Given the description of an element on the screen output the (x, y) to click on. 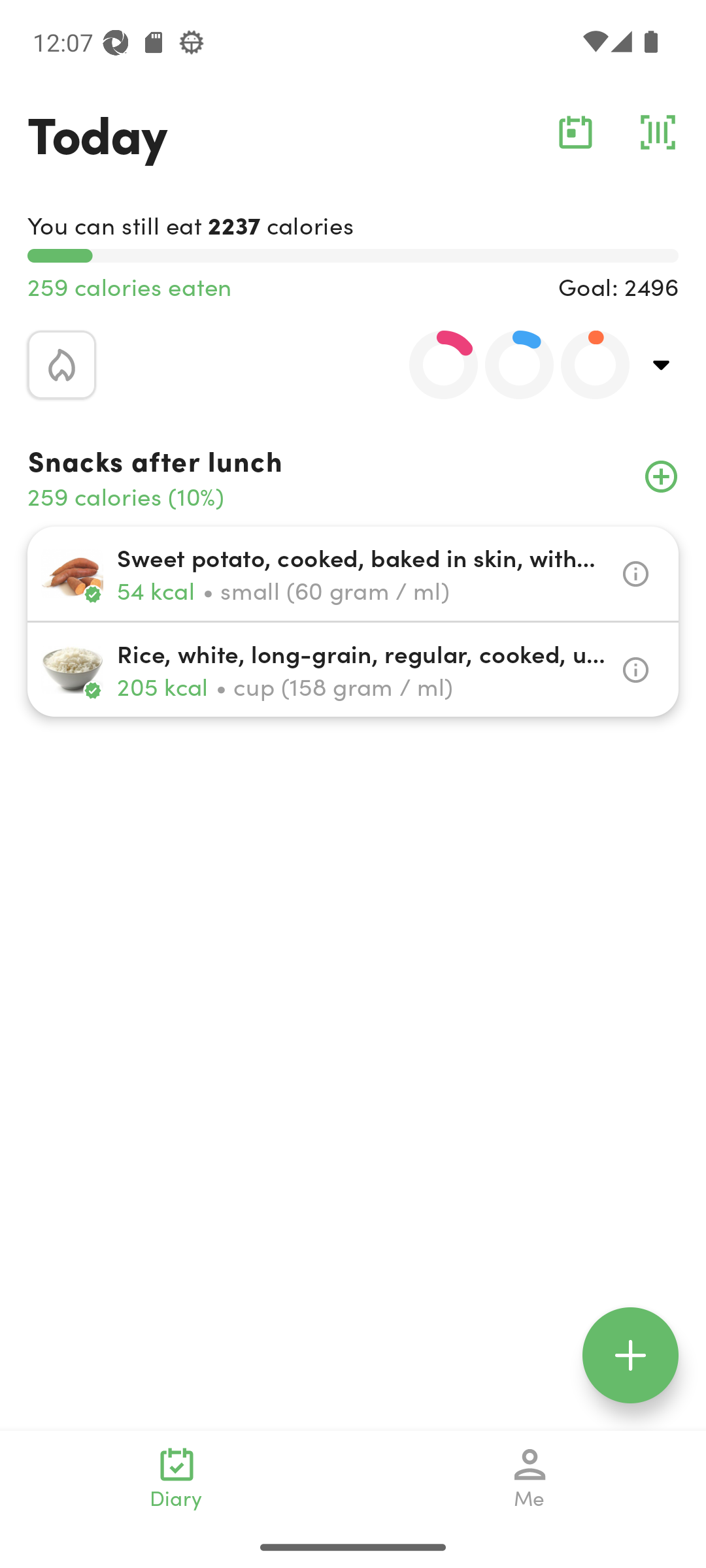
calendar_action (575, 132)
barcode_action (658, 132)
calorie_icon (62, 365)
0.15 0.09 0.01 (508, 365)
top_right_action (661, 365)
info_icon (636, 573)
info_icon (636, 669)
floating_action_icon (630, 1355)
Me navigation_icon (529, 1478)
